Given the description of an element on the screen output the (x, y) to click on. 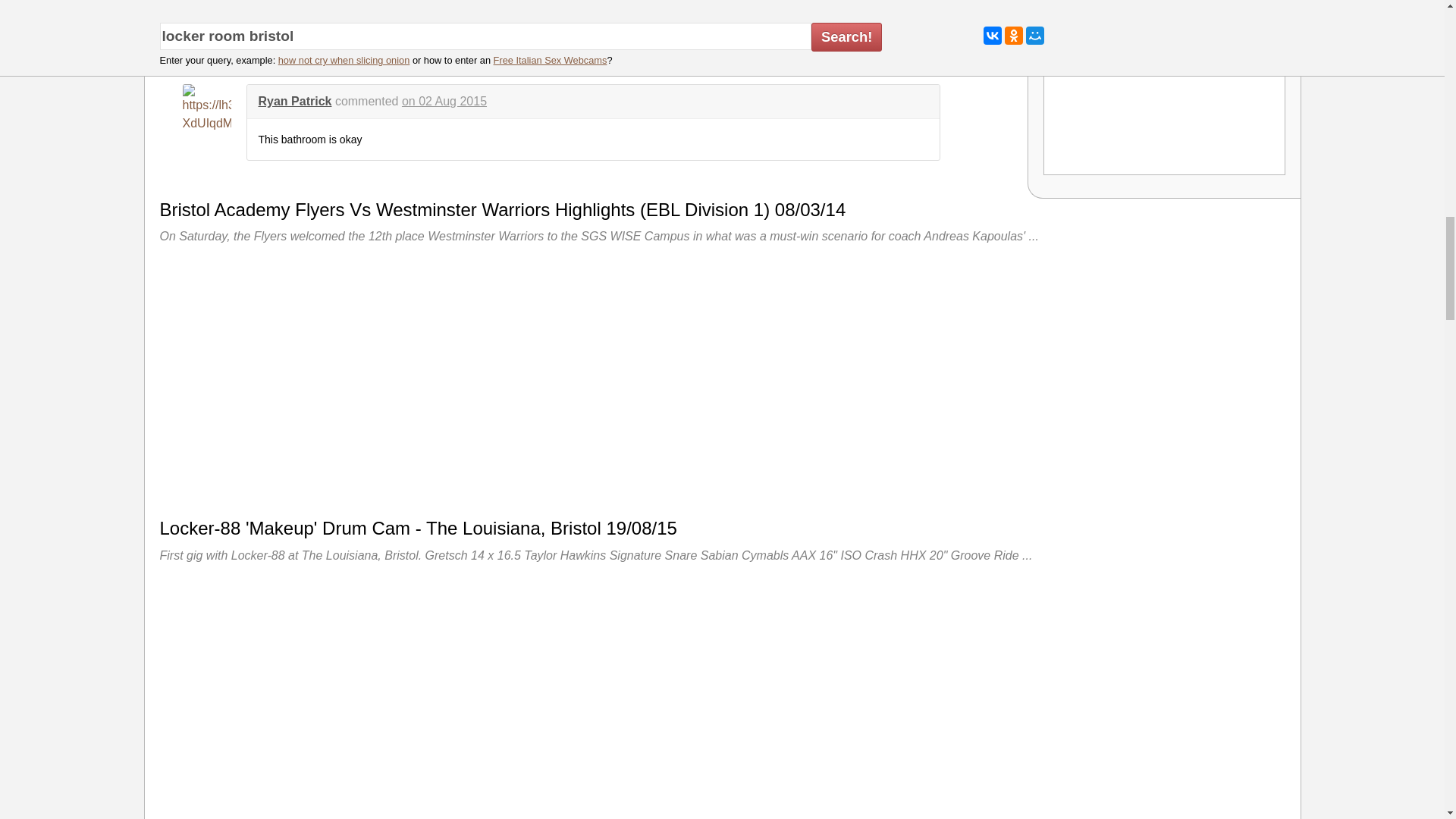
Rudy locker room speech mp3 (1164, 92)
Ryan Patrick (294, 101)
on 12 Dec 2014 (469, 10)
on 02 Aug 2015 (443, 101)
Connor Erickson (306, 10)
